Given the description of an element on the screen output the (x, y) to click on. 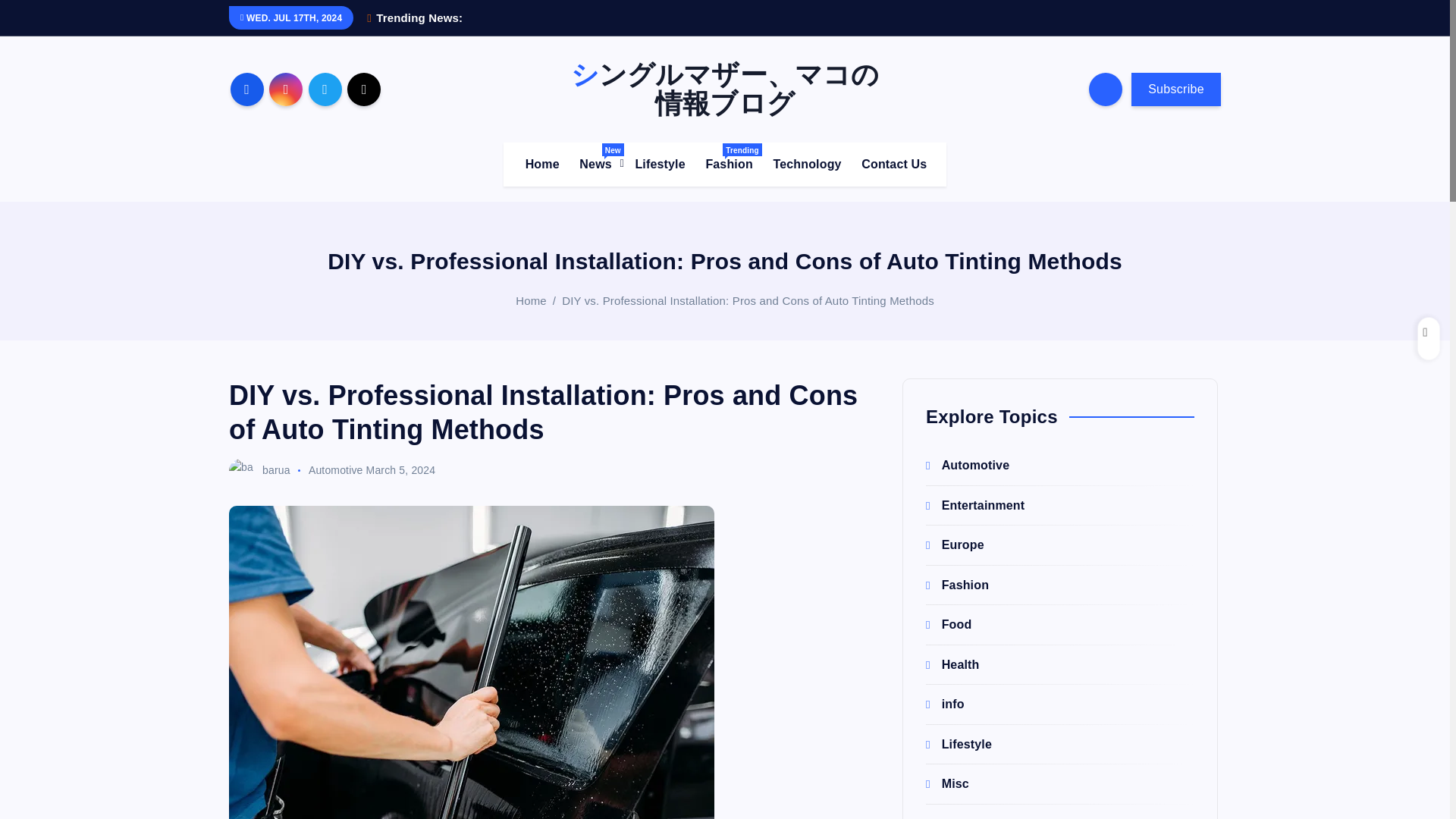
Technology (806, 164)
Technology (806, 164)
Subscribe (1176, 89)
News New (596, 164)
Lifestyle (660, 164)
Lifestyle (660, 164)
Contact Us (893, 164)
Home (728, 164)
Home (542, 164)
Fashion  Trending (531, 300)
Contact Us (728, 164)
Home (596, 164)
